Given the description of an element on the screen output the (x, y) to click on. 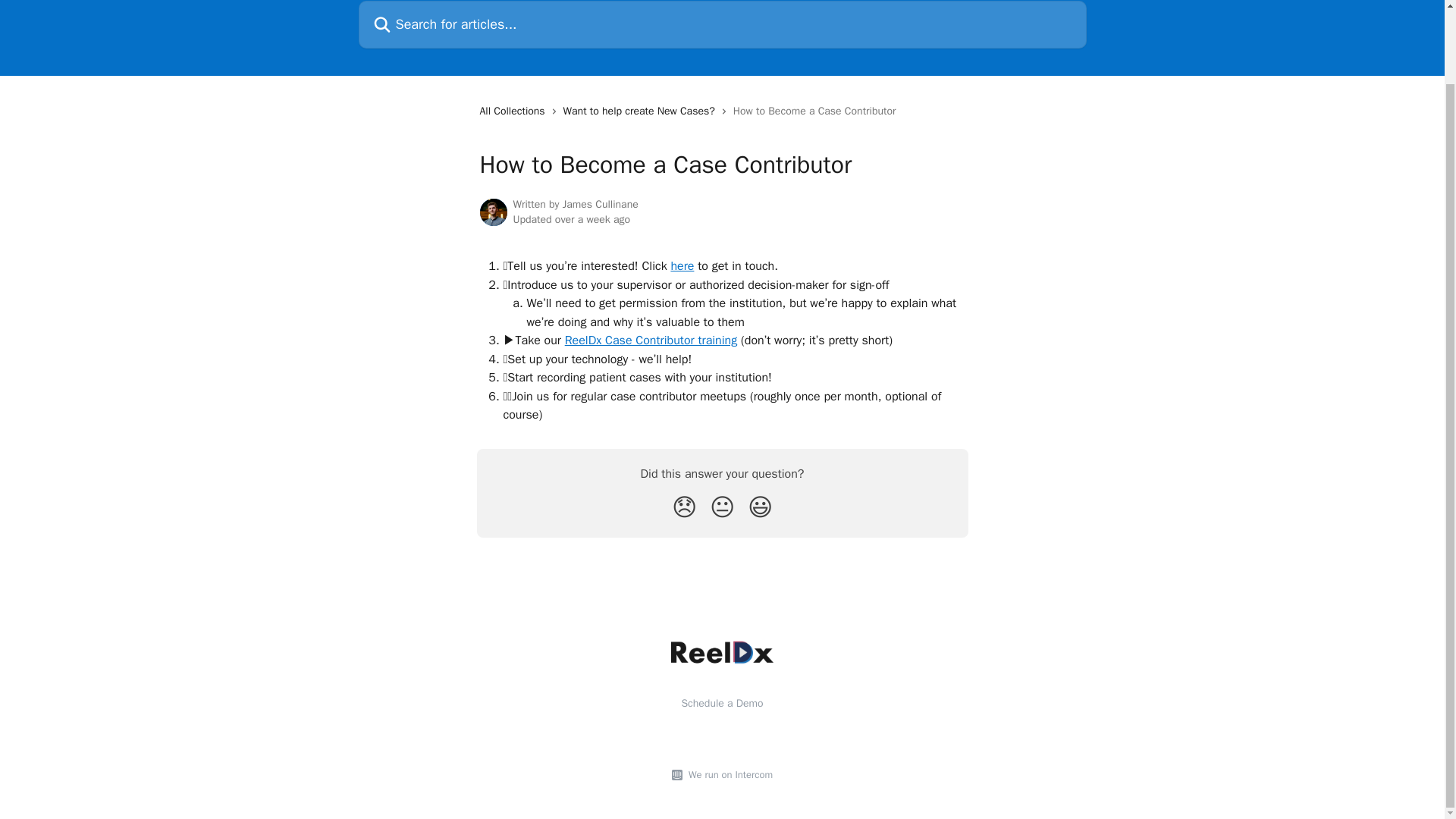
ReelDx Case Contributor training (650, 340)
We run on Intercom (727, 774)
Want to help create New Cases? (641, 111)
Smiley (760, 507)
Schedule a Demo (721, 703)
here (681, 265)
Neutral (722, 507)
Disappointed (684, 507)
All Collections (514, 111)
